Given the description of an element on the screen output the (x, y) to click on. 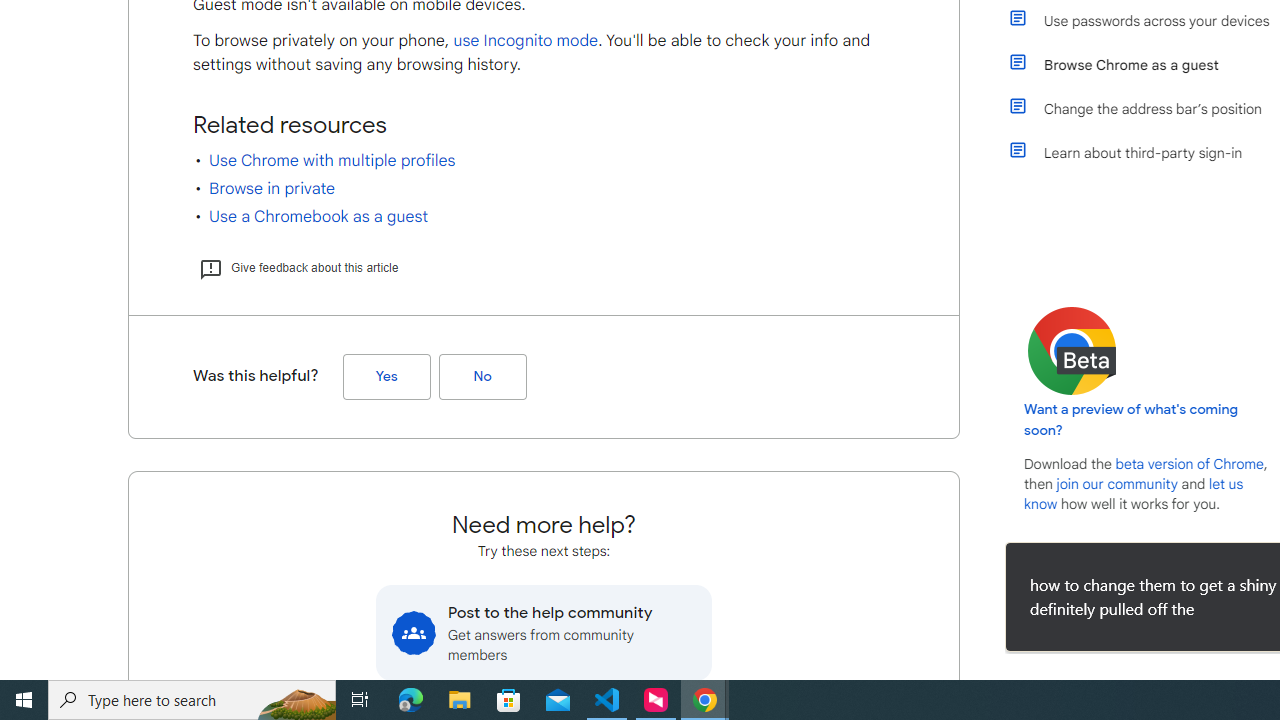
beta version of Chrome (1189, 464)
Give feedback about this article (298, 268)
use Incognito mode (526, 40)
Browse in private (271, 188)
Use a Chromebook as a guest (318, 216)
join our community (1116, 484)
let us know (1134, 493)
Chrome Beta logo (1072, 350)
No (Was this helpful?) (482, 377)
Use Chrome with multiple profiles (331, 161)
Yes (Was this helpful?) (386, 377)
Want a preview of what's coming soon? (1131, 420)
